Given the description of an element on the screen output the (x, y) to click on. 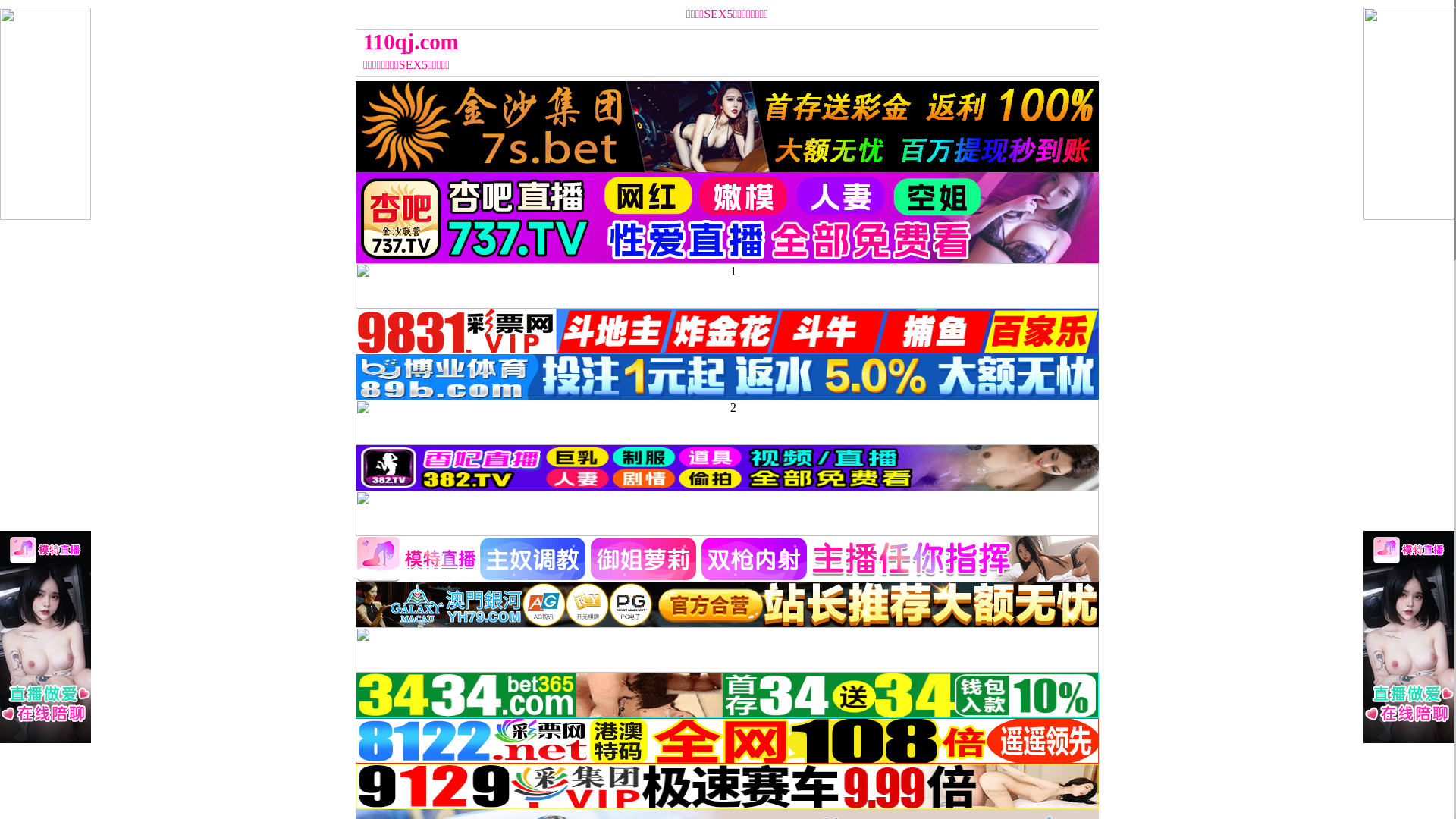
110qj.com Element type: text (634, 41)
